Given the description of an element on the screen output the (x, y) to click on. 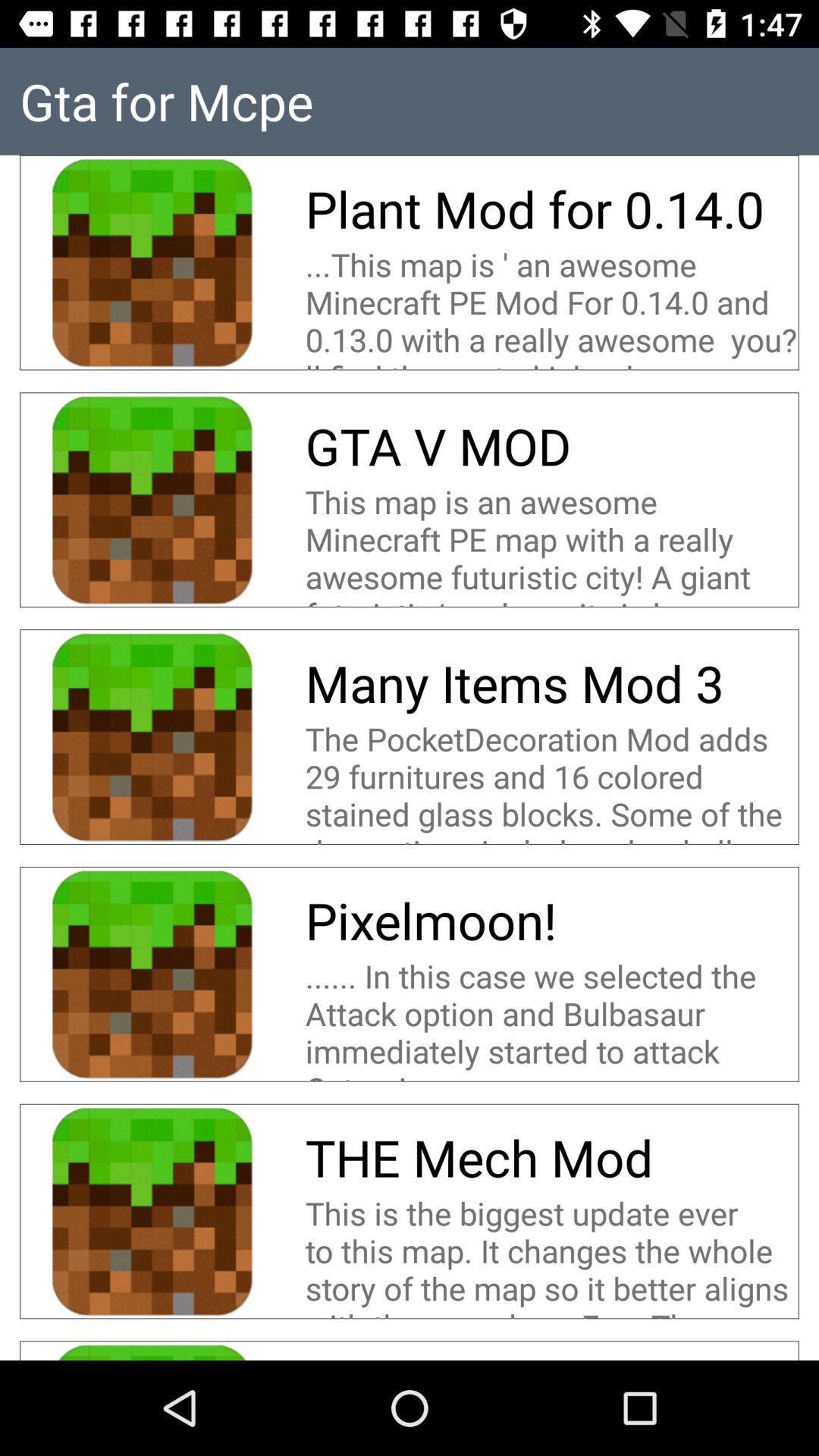
press many items mod icon (520, 683)
